Given the description of an element on the screen output the (x, y) to click on. 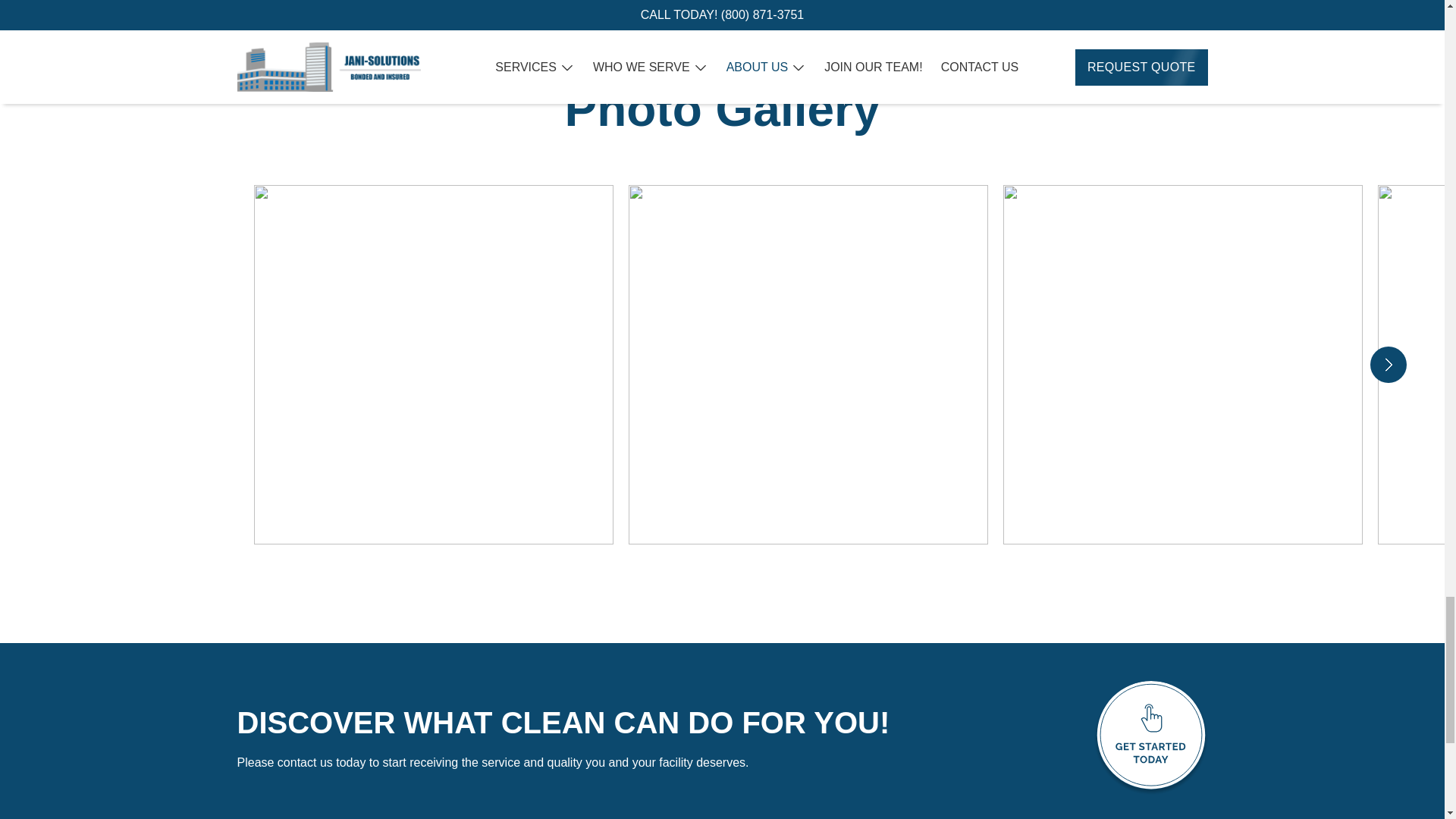
Next (1388, 364)
Request Quote (1150, 737)
